Given the description of an element on the screen output the (x, y) to click on. 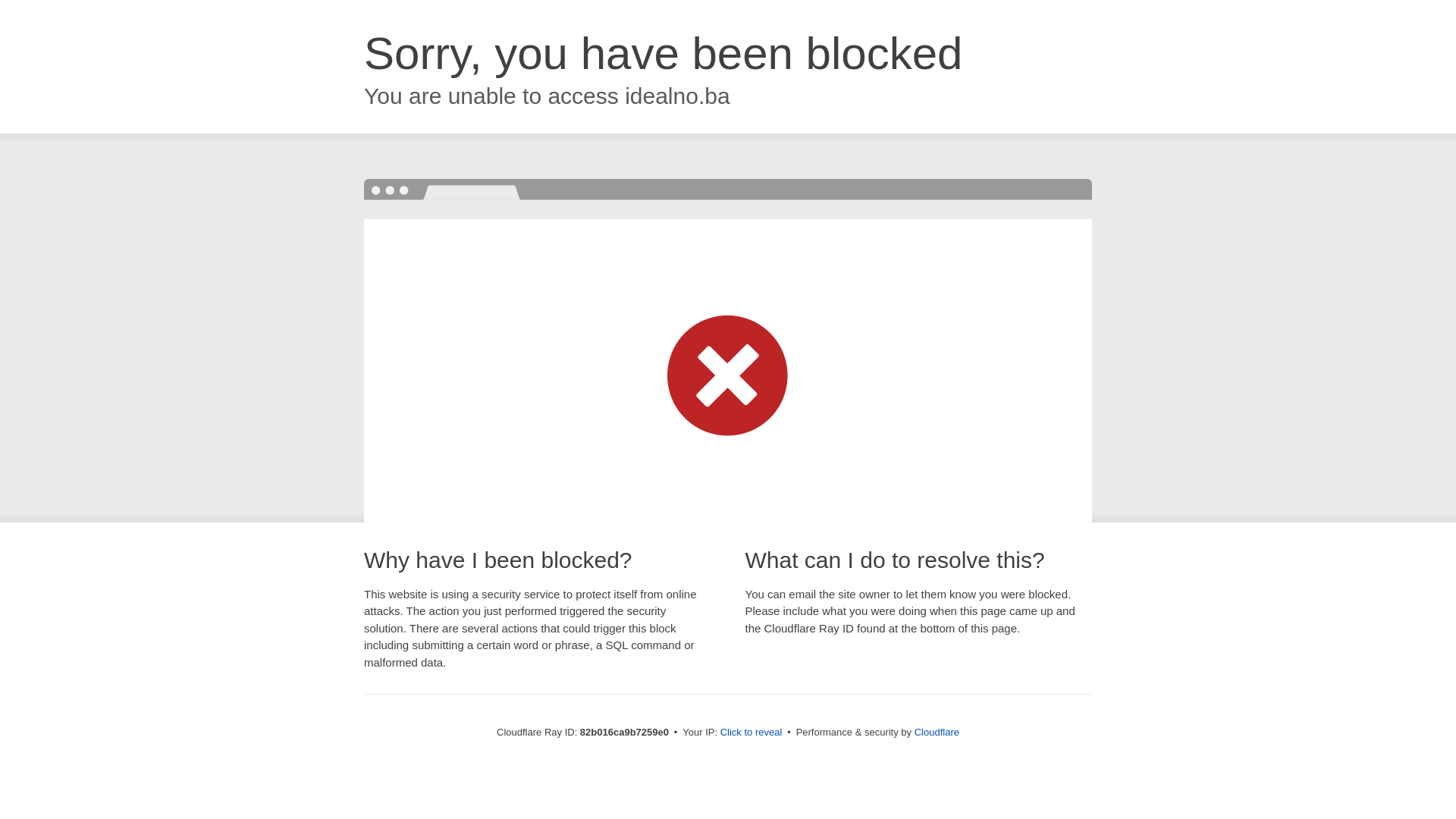
Click to reveal Element type: text (751, 732)
Cloudflare Element type: text (936, 731)
